Given the description of an element on the screen output the (x, y) to click on. 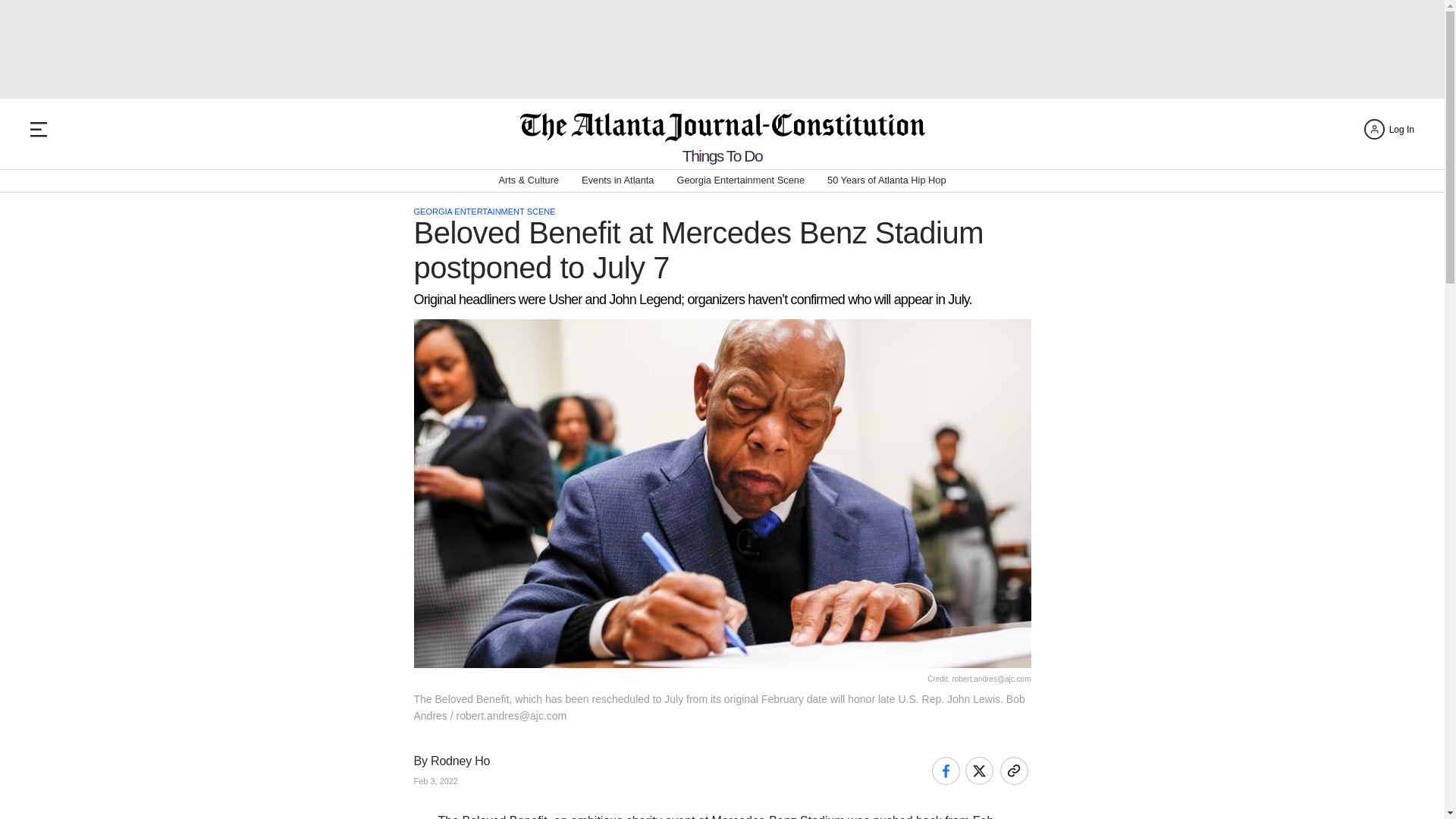
Georgia Entertainment Scene (741, 180)
50 Years of Atlanta Hip Hop (886, 180)
Things To Do (721, 155)
Events in Atlanta (616, 180)
